Given the description of an element on the screen output the (x, y) to click on. 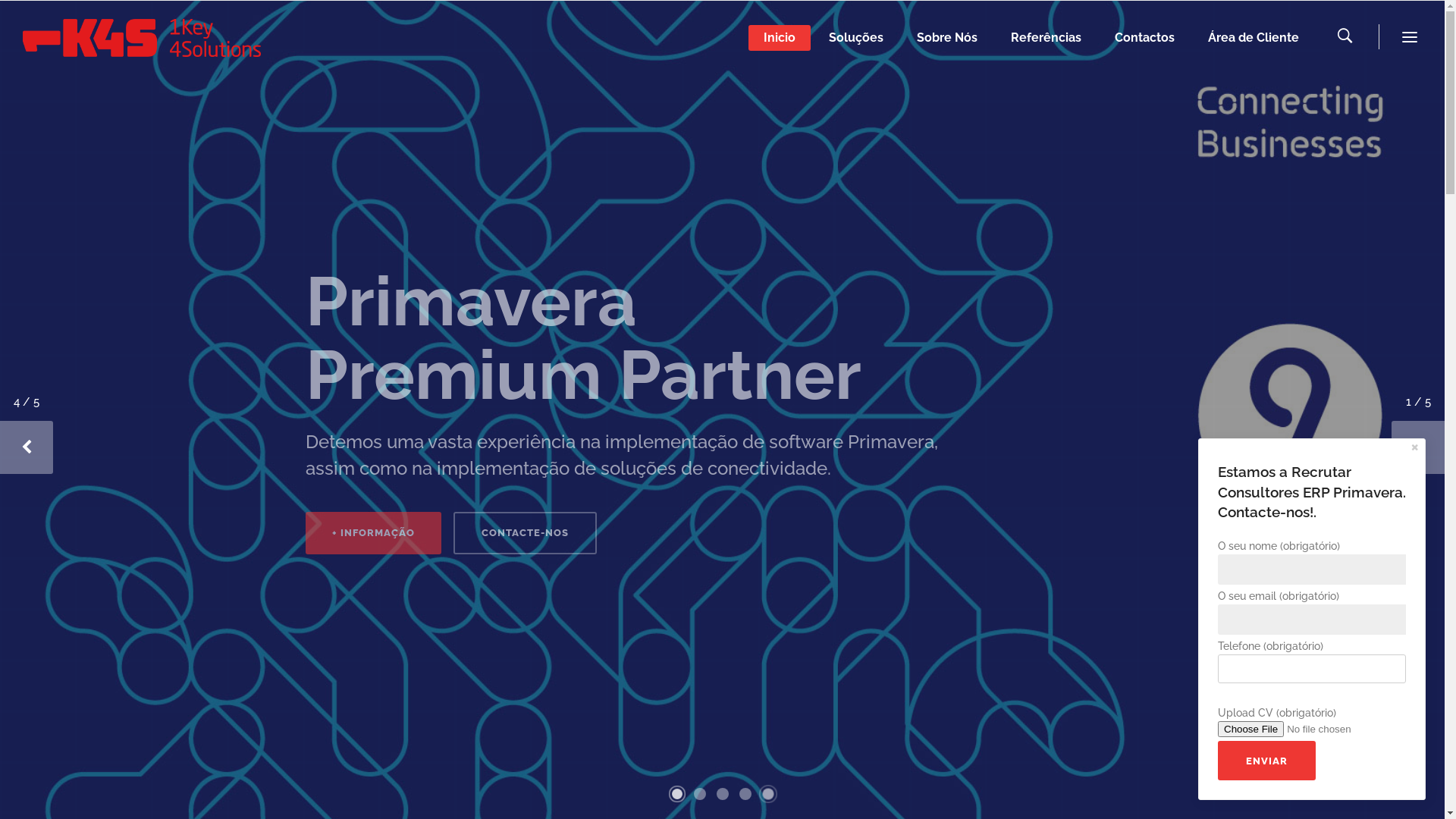
Enviar Element type: text (1266, 760)
Contactos Element type: text (1144, 37)
Inicio Element type: text (779, 37)
